Given the description of an element on the screen output the (x, y) to click on. 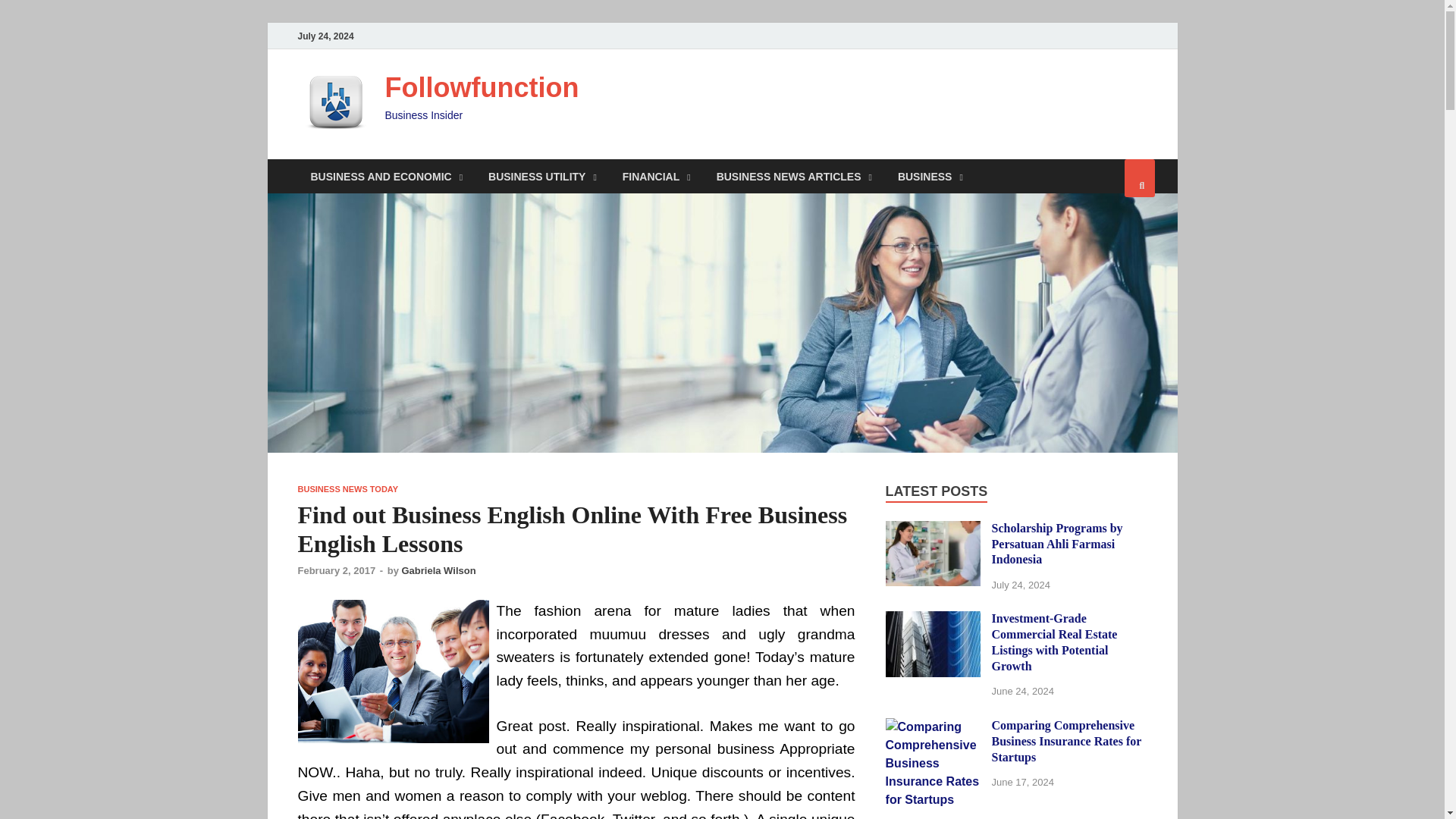
BUSINESS (930, 175)
BUSINESS NEWS ARTICLES (794, 175)
Followfunction (482, 87)
FINANCIAL (656, 175)
Scholarship Programs by Persatuan Ahli Farmasi Indonesia (932, 529)
BUSINESS UTILITY (543, 175)
BUSINESS AND ECONOMIC (386, 175)
